Given the description of an element on the screen output the (x, y) to click on. 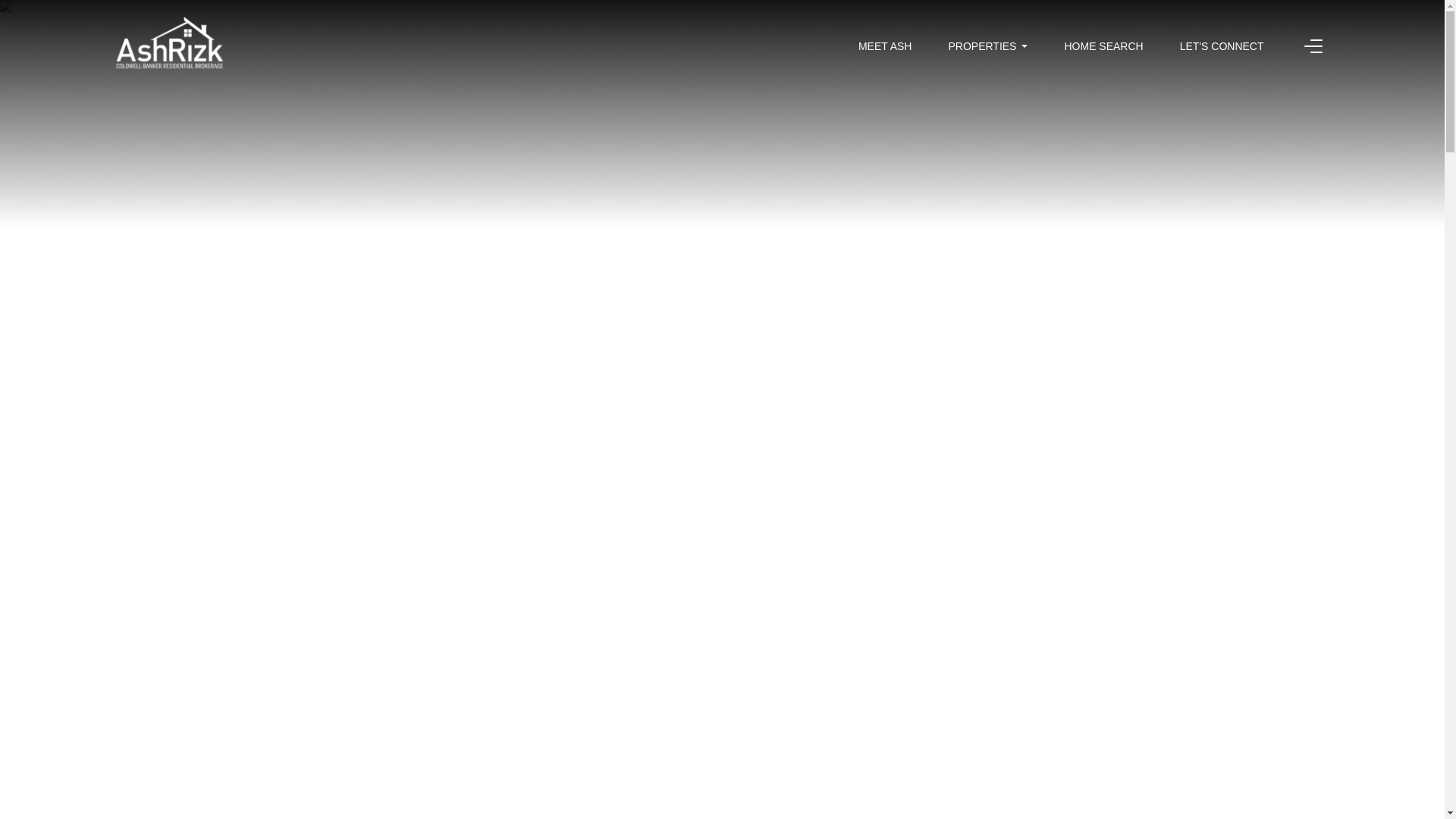
LET'S CONNECT (1221, 46)
MEET ASH (885, 46)
PROPERTIES (987, 46)
HOME SEARCH (1103, 46)
